Given the description of an element on the screen output the (x, y) to click on. 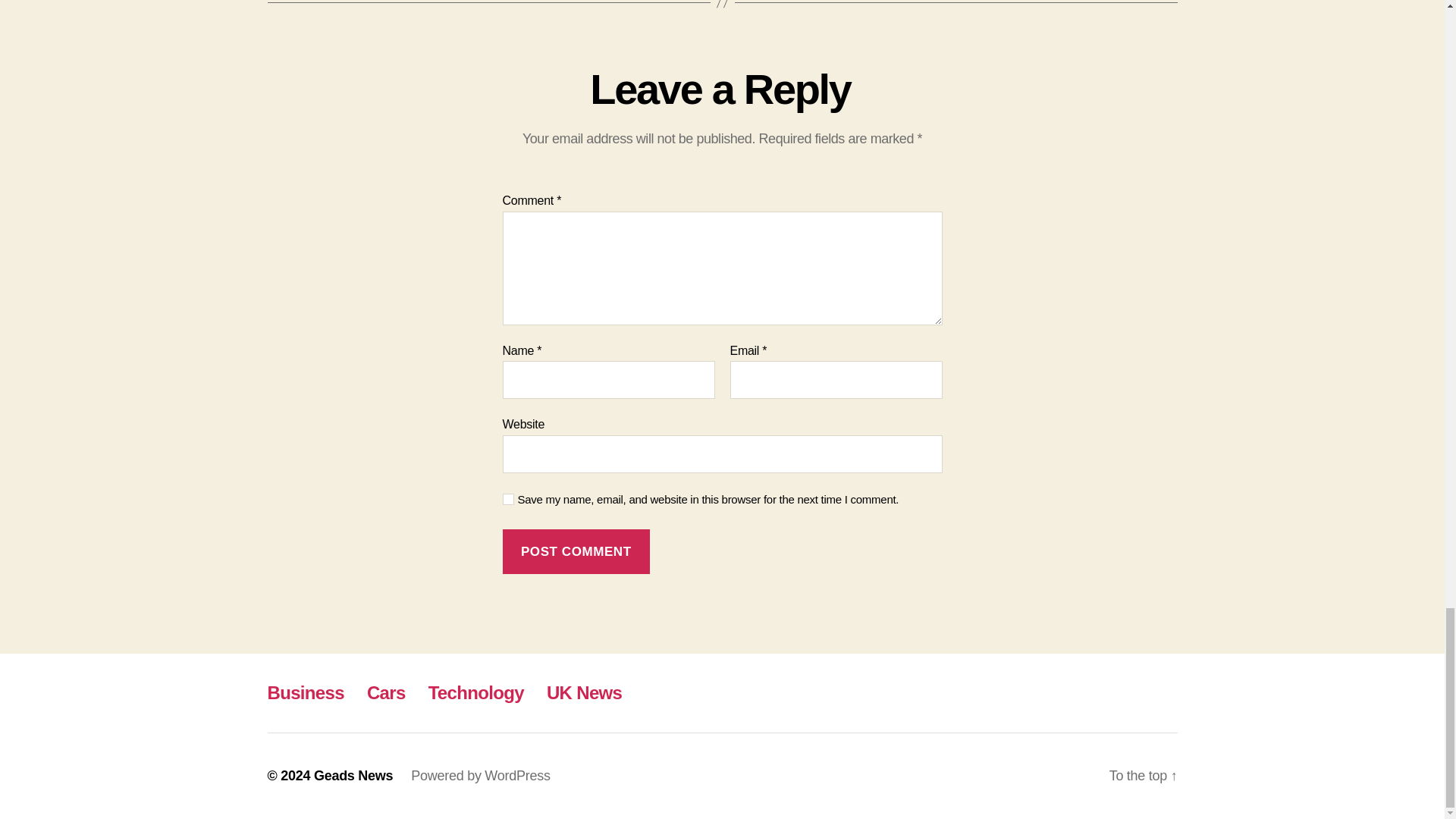
yes (507, 499)
Technology (476, 692)
Post Comment (575, 551)
Cars (386, 692)
Geads News (353, 775)
Powered by WordPress (480, 775)
UK News (584, 692)
Business (304, 692)
Post Comment (575, 551)
